Given the description of an element on the screen output the (x, y) to click on. 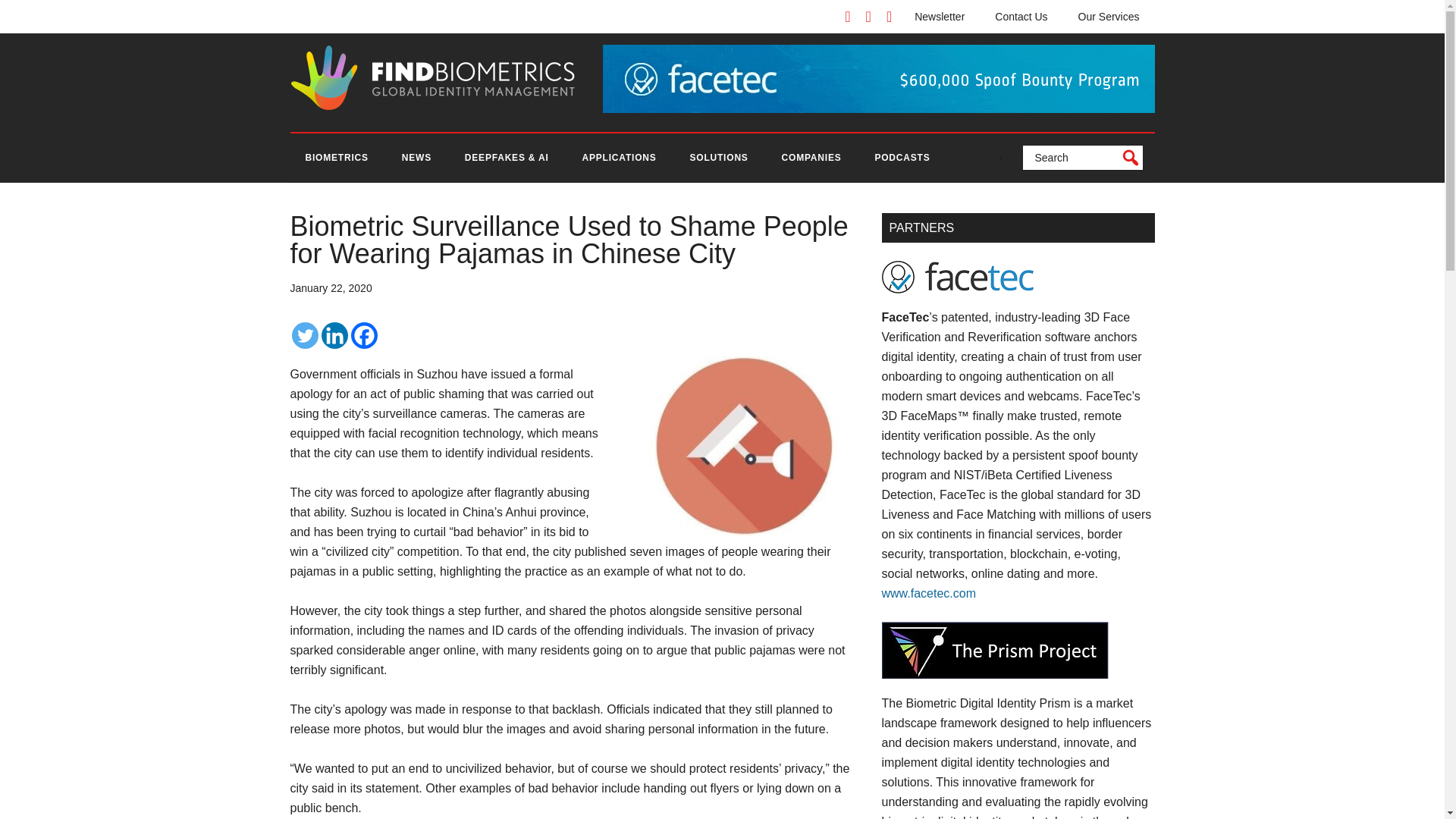
SOLUTIONS (718, 157)
Newsletter (939, 16)
BIOMETRICS (335, 157)
Contact Us (1020, 16)
Facebook (363, 335)
NEWS (416, 157)
Linkedin (334, 335)
Twitter (304, 335)
Our Services (1108, 16)
APPLICATIONS (619, 157)
